Given the description of an element on the screen output the (x, y) to click on. 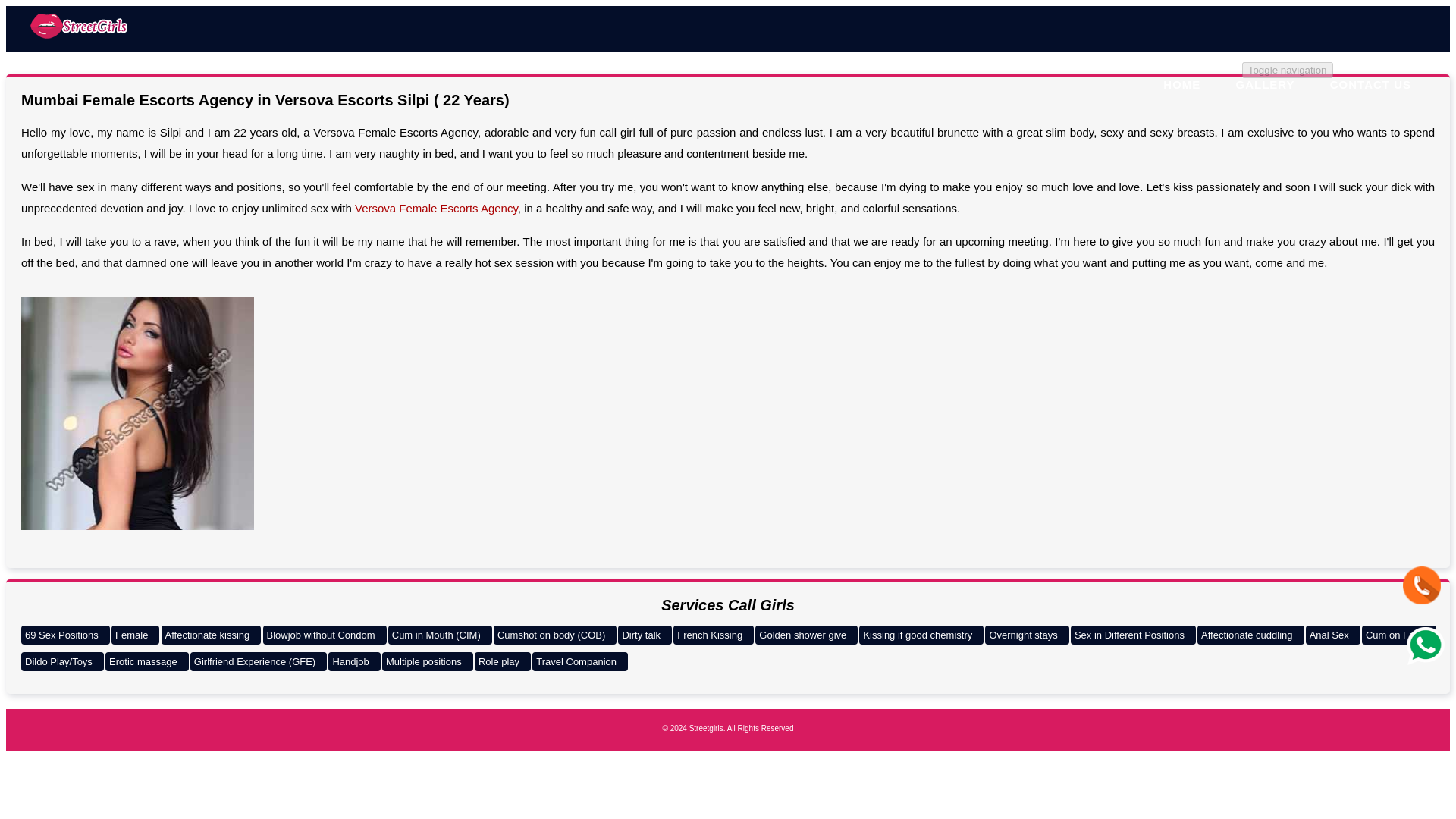
Golden shower give (806, 634)
Blowjob without Condom (323, 634)
CONTACT US (1370, 83)
Kissing if good chemistry (921, 634)
Erotic massage (146, 660)
69 Sex Positions (65, 634)
HOME (1181, 83)
French Kissing (713, 634)
Toggle navigation (1287, 69)
Chat with me (1422, 585)
